Given the description of an element on the screen output the (x, y) to click on. 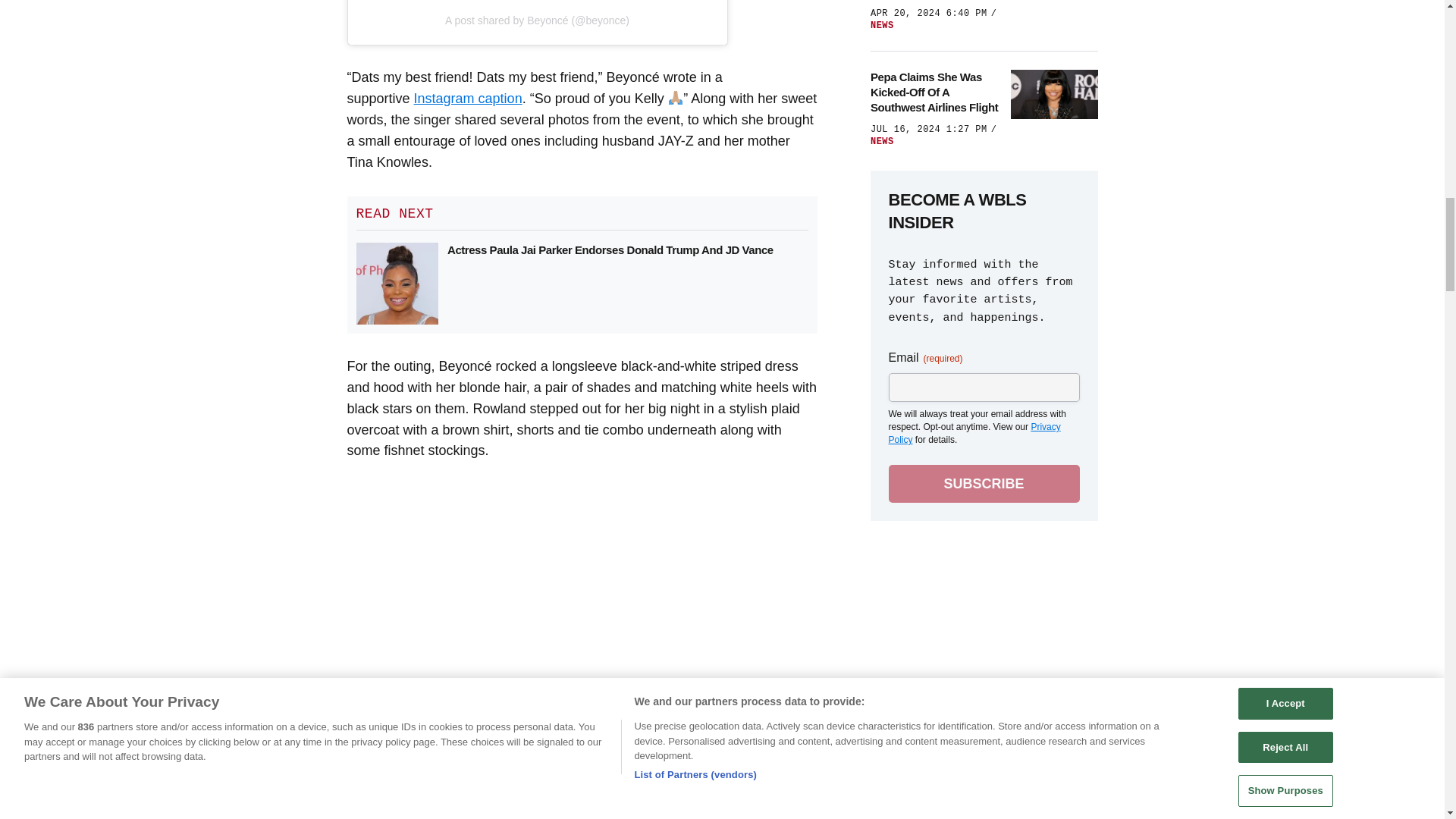
Subscribe (984, 483)
Actress Paula Jai Parker Endorses Donald Trump And JD Vance (609, 249)
Instagram caption (467, 98)
